Given the description of an element on the screen output the (x, y) to click on. 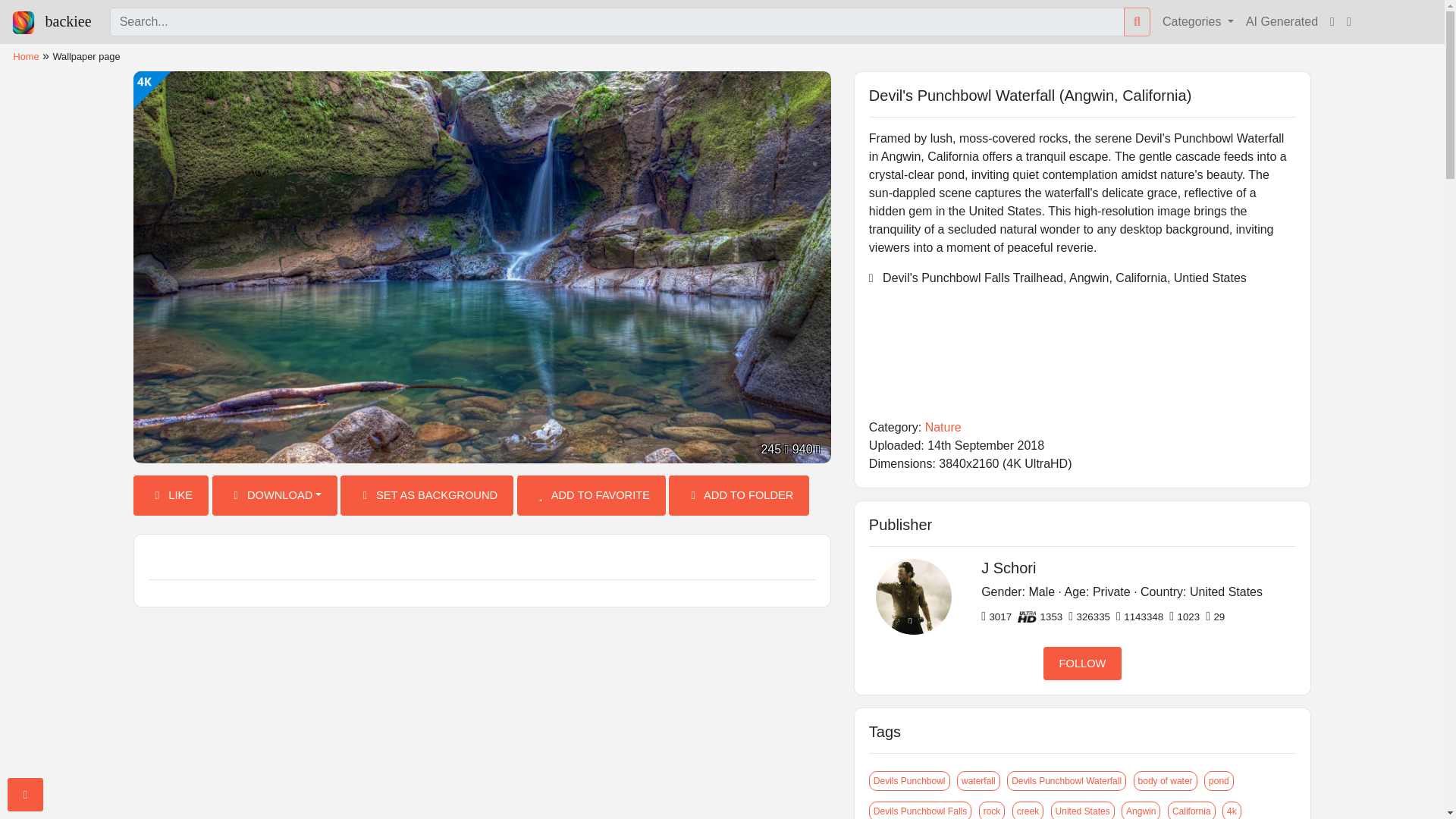
Categories (1198, 21)
SET AS BACKGROUND (426, 495)
Nature (942, 427)
LIKE (170, 495)
FOLLOW (1082, 663)
ADD TO FAVORITE (590, 495)
DOWNLOAD (274, 495)
Devils Punchbowl (909, 781)
Comments (481, 557)
ADD TO FOLDER (738, 495)
